Given the description of an element on the screen output the (x, y) to click on. 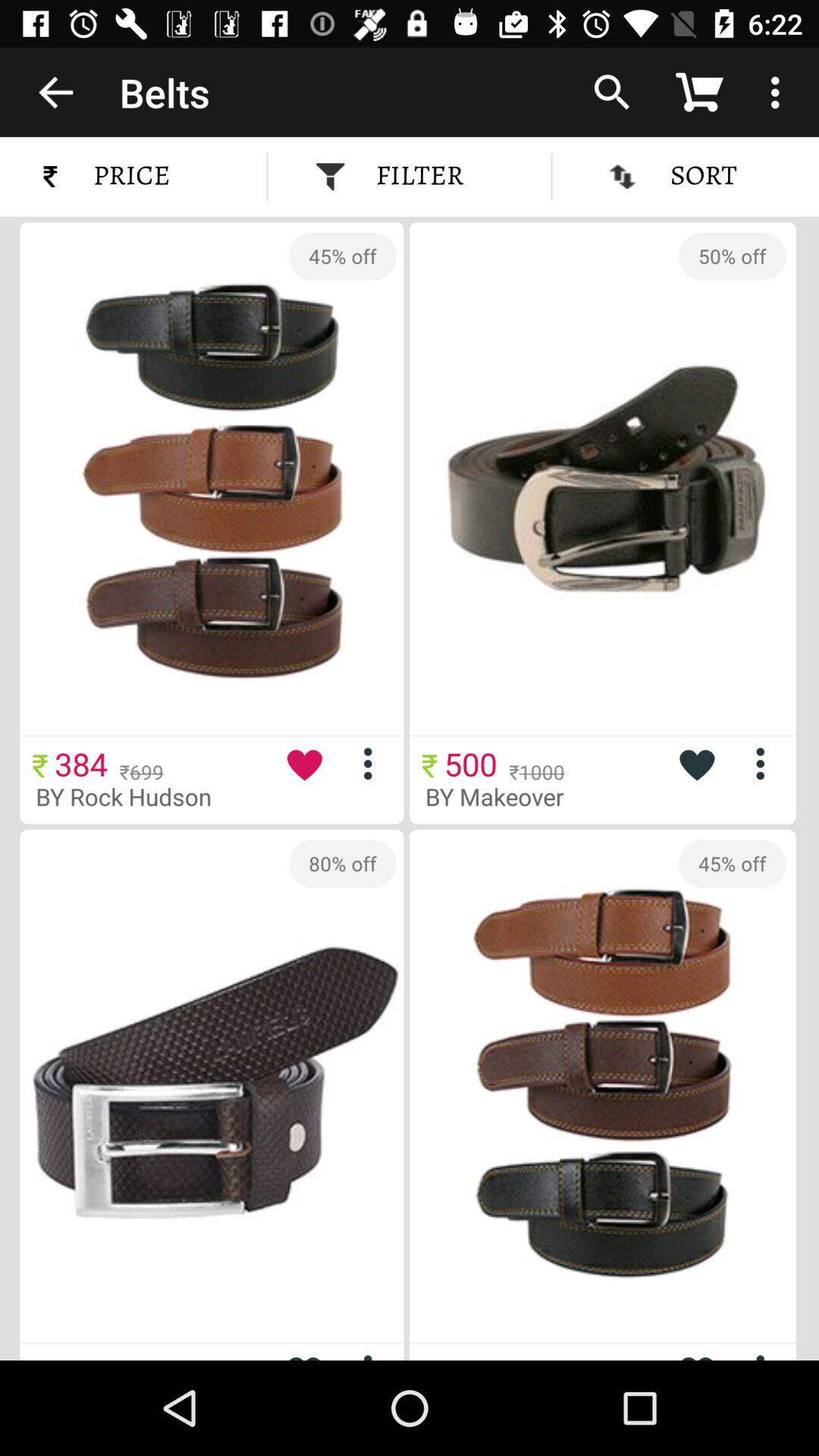
hreat (696, 763)
